Given the description of an element on the screen output the (x, y) to click on. 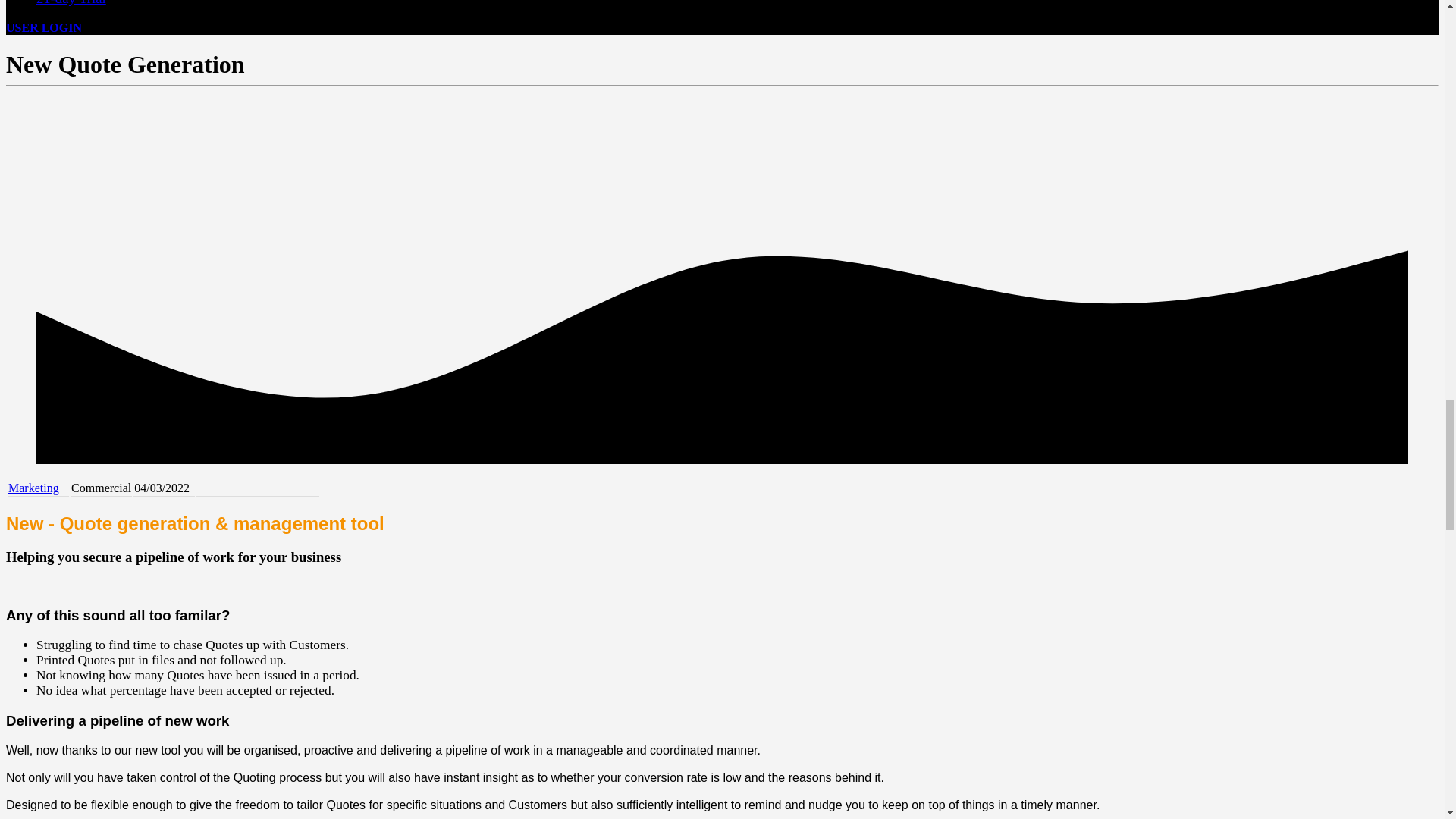
Login to your Work Group (43, 27)
USER LOGIN (43, 27)
Marketing (33, 487)
